Given the description of an element on the screen output the (x, y) to click on. 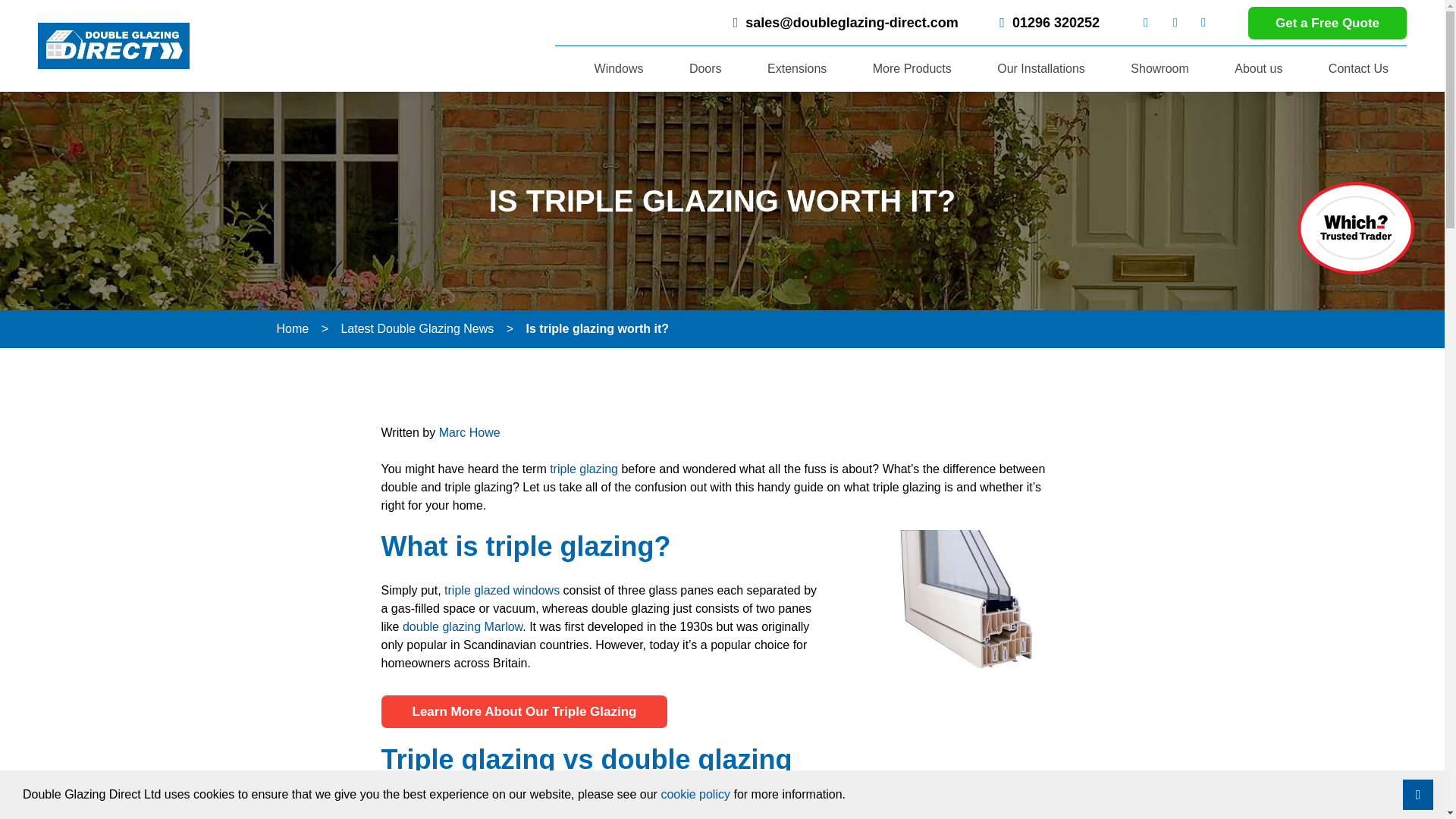
Posts by Marc Howe (469, 431)
Call us today (1045, 22)
Email us today (841, 22)
Get in touch (1326, 21)
Return to the homepage (113, 45)
Triple Glazing (523, 711)
